Given the description of an element on the screen output the (x, y) to click on. 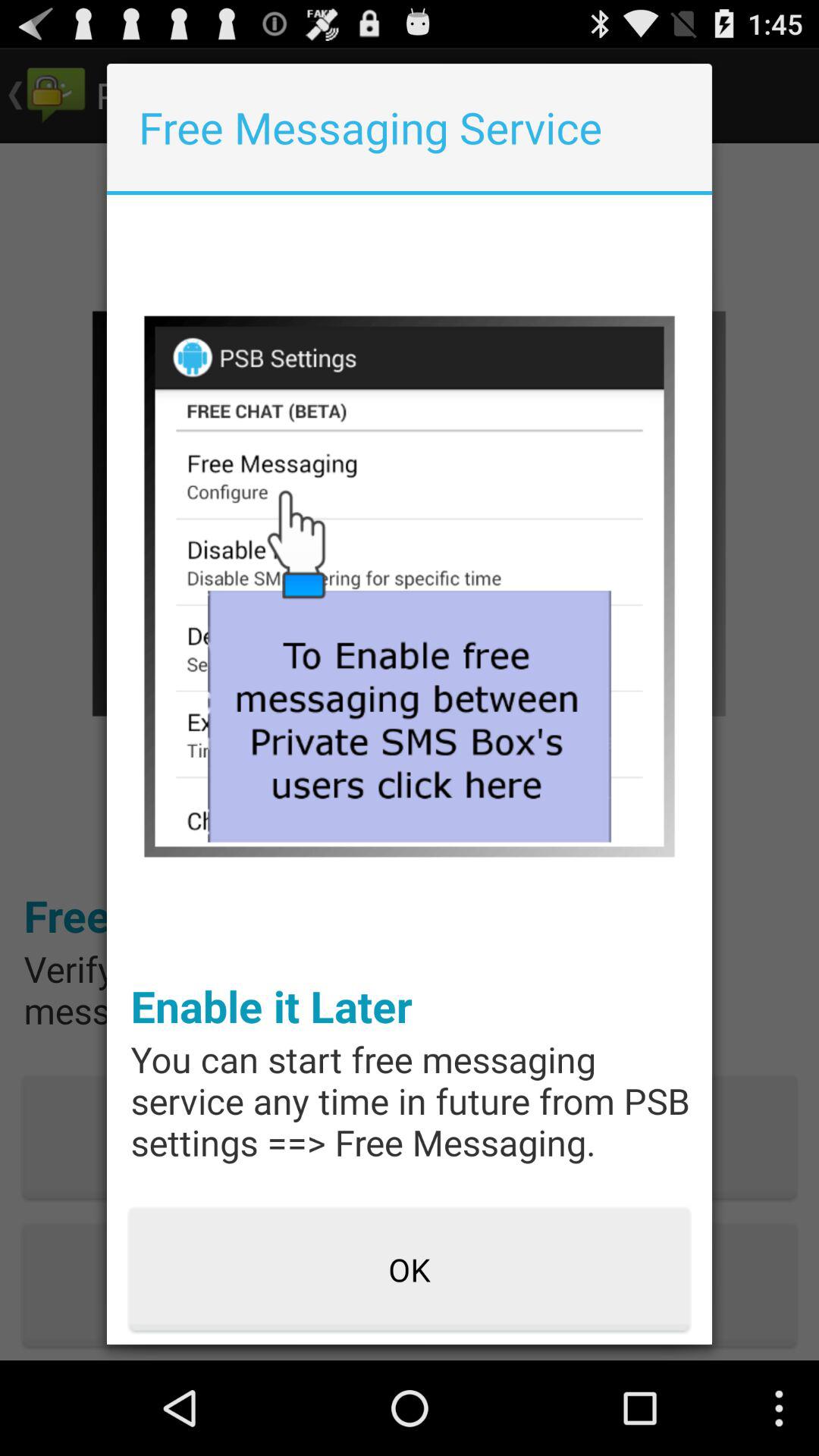
open app below the you can start icon (409, 1270)
